Given the description of an element on the screen output the (x, y) to click on. 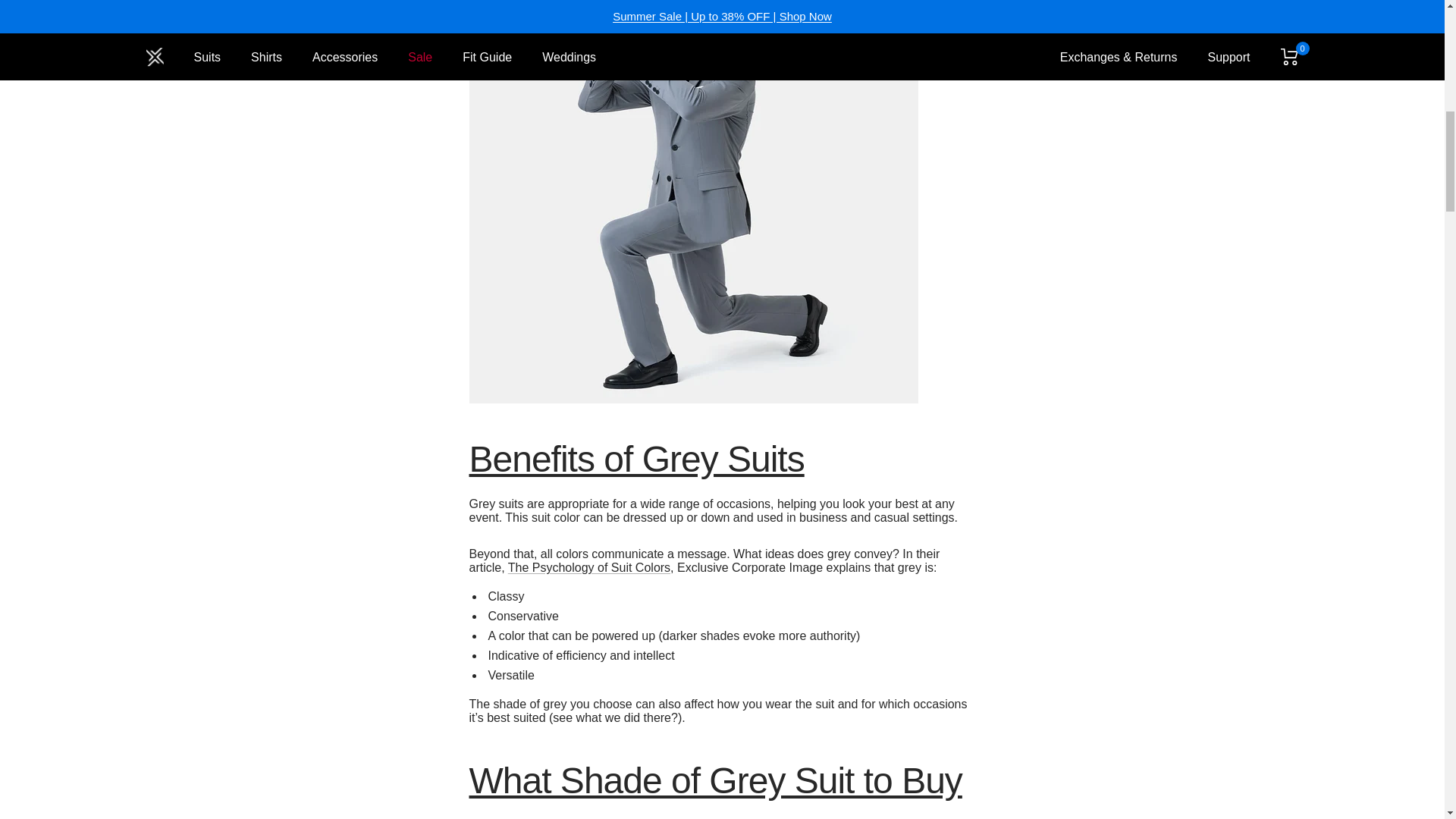
The Psychology of Suit Colors (588, 567)
